Given the description of an element on the screen output the (x, y) to click on. 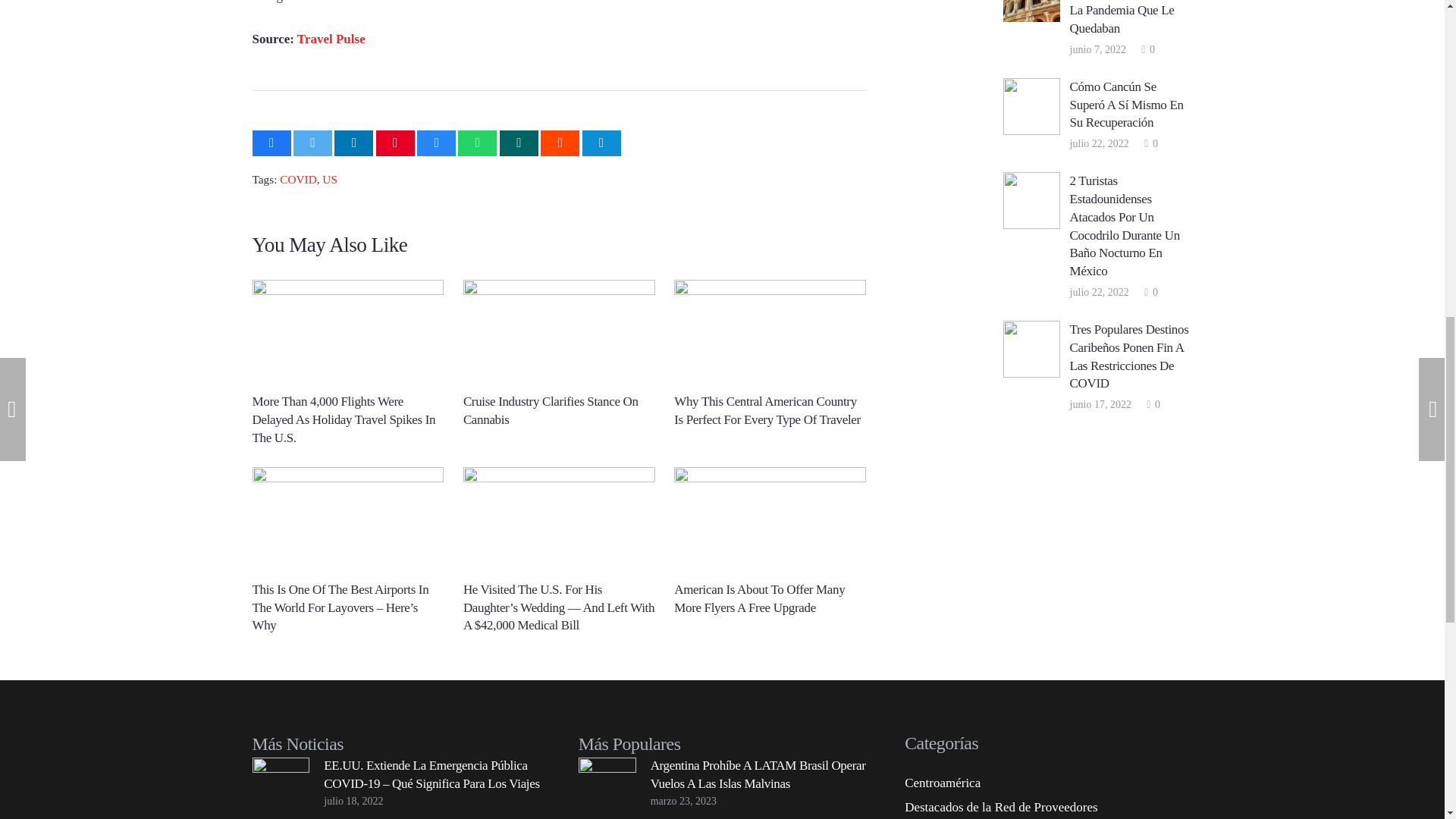
Comparte esto (353, 143)
Comparte esto (477, 143)
Travel Pulse (331, 38)
Comparte esto (270, 143)
Comparte esto (559, 143)
Comparte esto (518, 143)
Comparte esto (435, 143)
Twittear (312, 143)
